Given the description of an element on the screen output the (x, y) to click on. 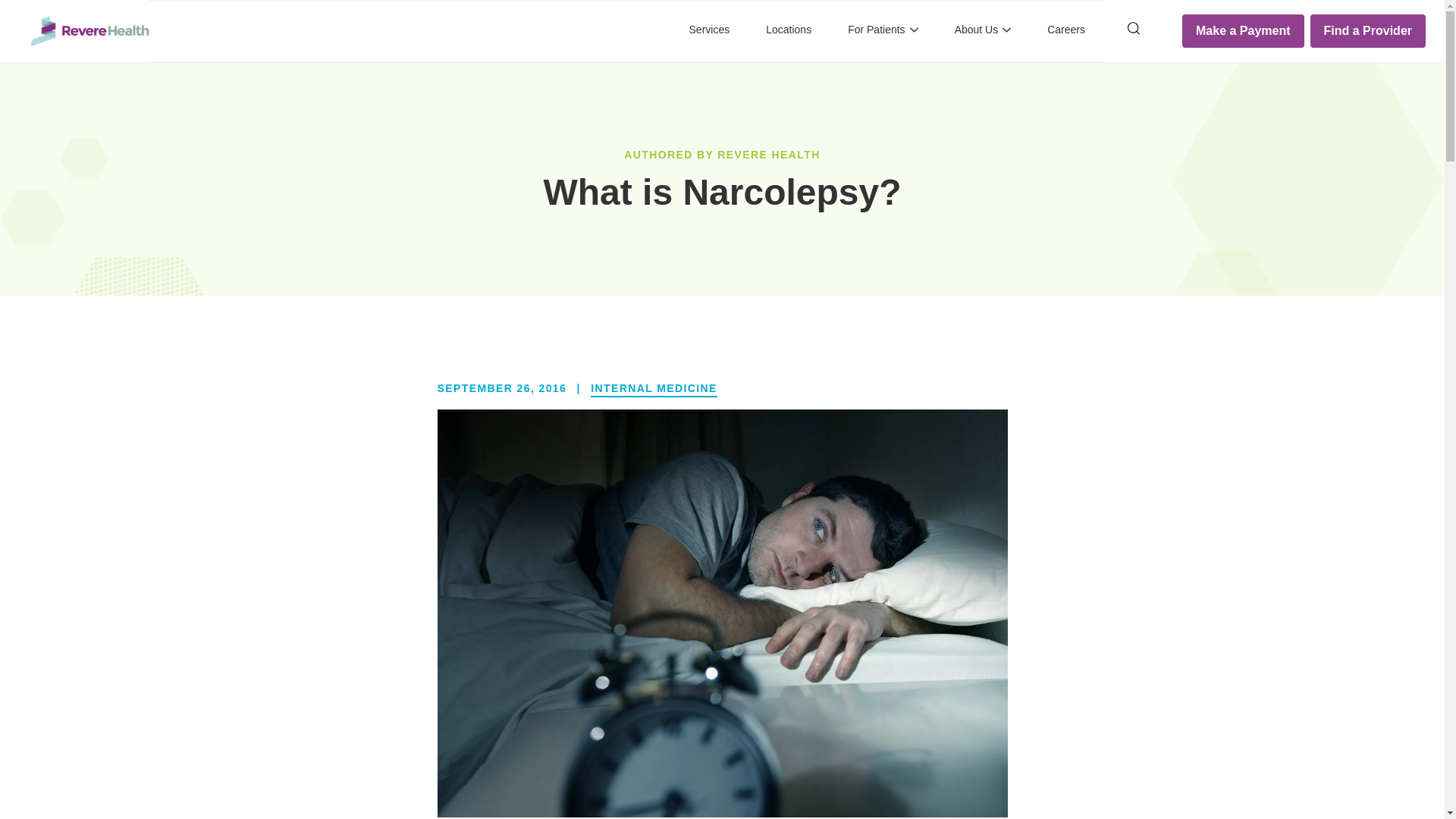
Make a Payment (1243, 30)
INTERNAL MEDICINE (654, 388)
For Patients (882, 30)
About Us (983, 30)
Find a Provider (1367, 30)
